Given the description of an element on the screen output the (x, y) to click on. 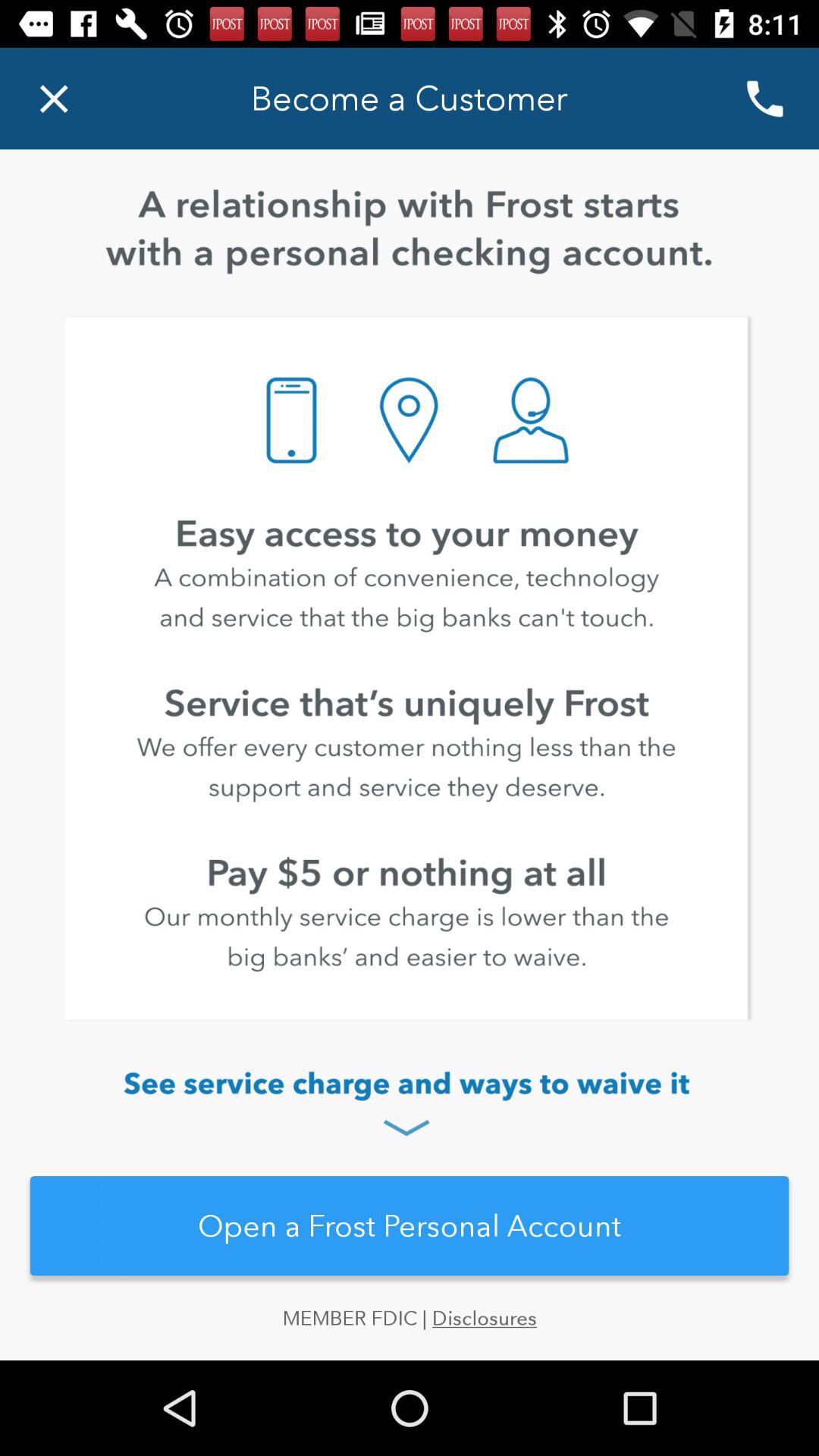
launch open a frost item (409, 1225)
